Given the description of an element on the screen output the (x, y) to click on. 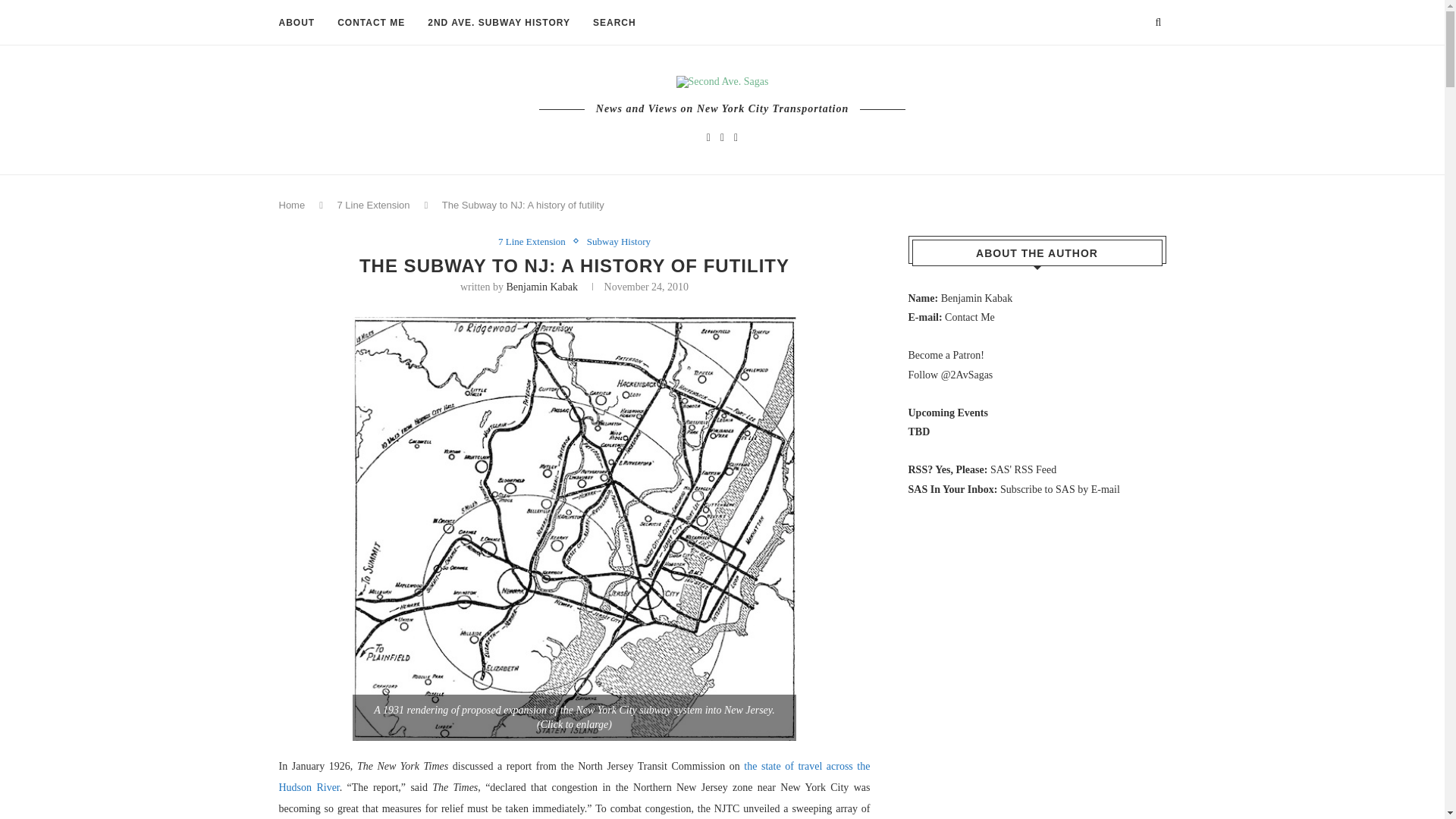
SEARCH (614, 22)
Home (292, 204)
7 Line Extension (372, 204)
the state of travel across the Hudson River (574, 776)
Benjamin Kabak (542, 286)
7 Line Extension (535, 241)
2ND AVE. SUBWAY HISTORY (499, 22)
CONTACT ME (370, 22)
Subway History (618, 241)
